Given the description of an element on the screen output the (x, y) to click on. 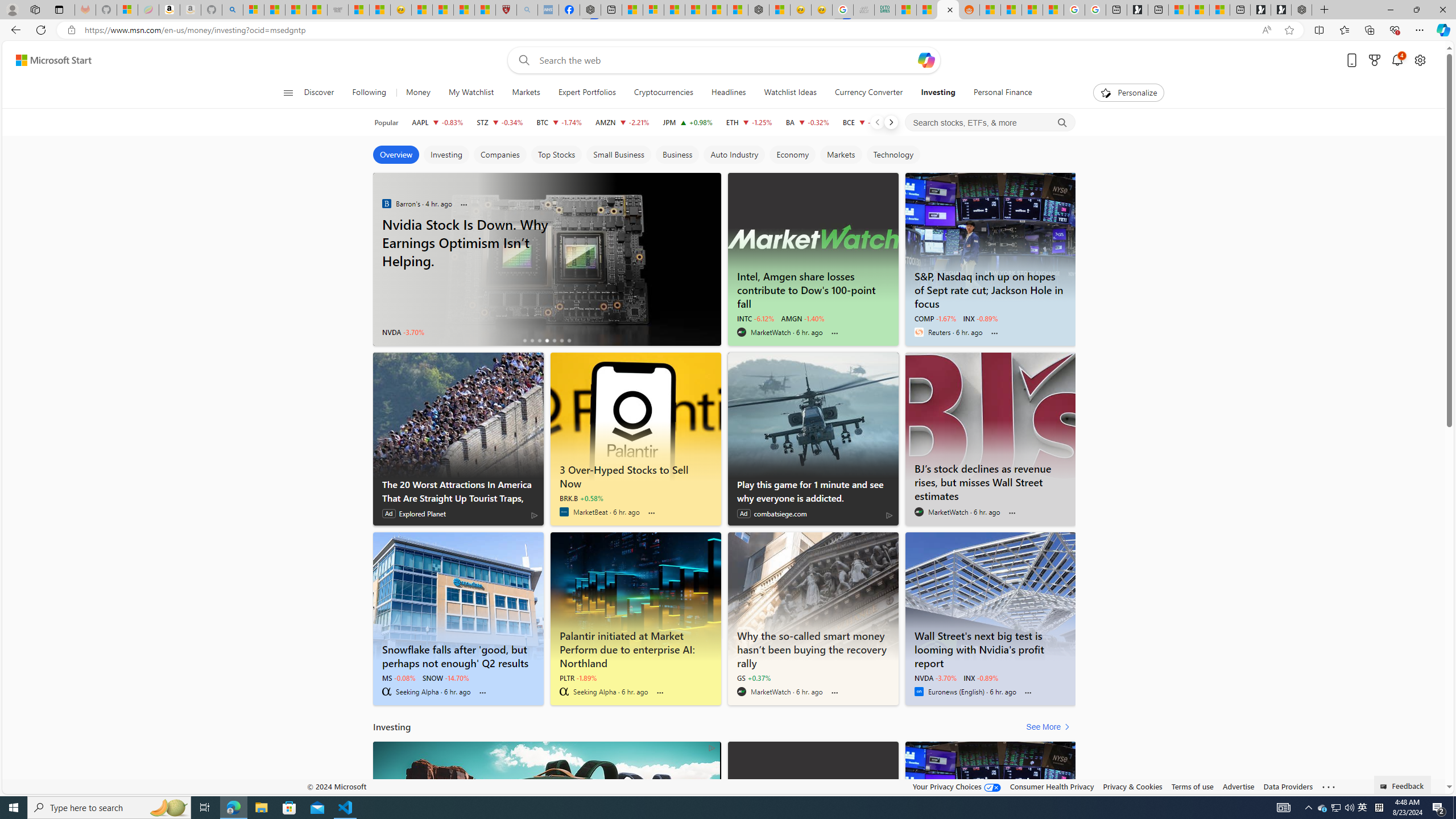
Consumer Health Privacy (1051, 786)
Headlines (727, 92)
Cryptocurrencies (662, 92)
Business (676, 154)
Notifications (1397, 60)
Minimize (1390, 9)
Discover (323, 92)
Copilot (Ctrl+Shift+.) (1442, 29)
Small Business (617, 154)
Euronews (English) (918, 691)
Address and search bar (669, 29)
